Given the description of an element on the screen output the (x, y) to click on. 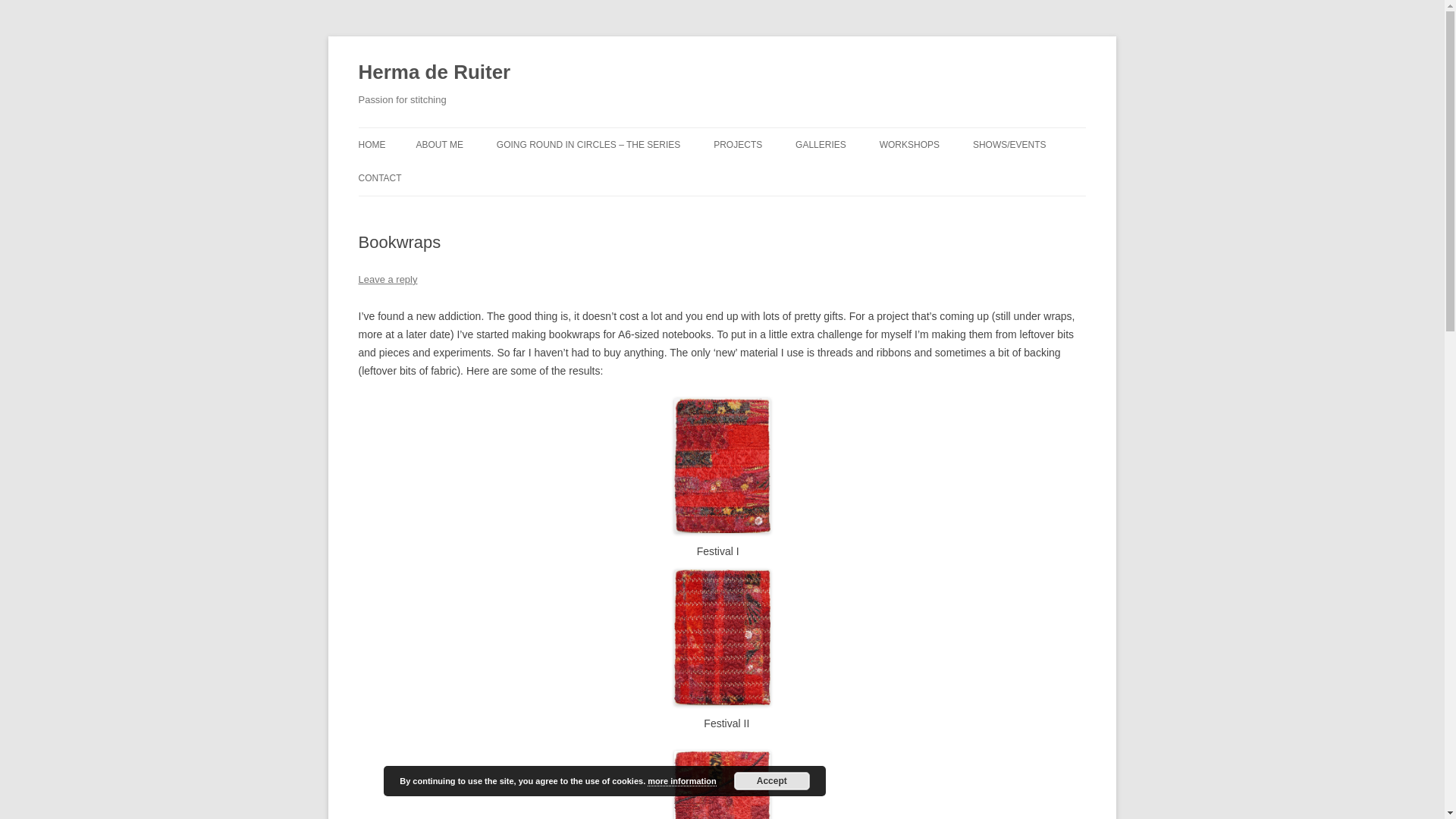
Leave a reply (387, 279)
more information (681, 781)
PROJECTS (737, 144)
Festival III (722, 785)
CONTACT (379, 177)
GALLERIES (819, 144)
WORKSHOPS (909, 144)
ABOUT ME (438, 144)
10 X 10 CM (870, 176)
